Given the description of an element on the screen output the (x, y) to click on. 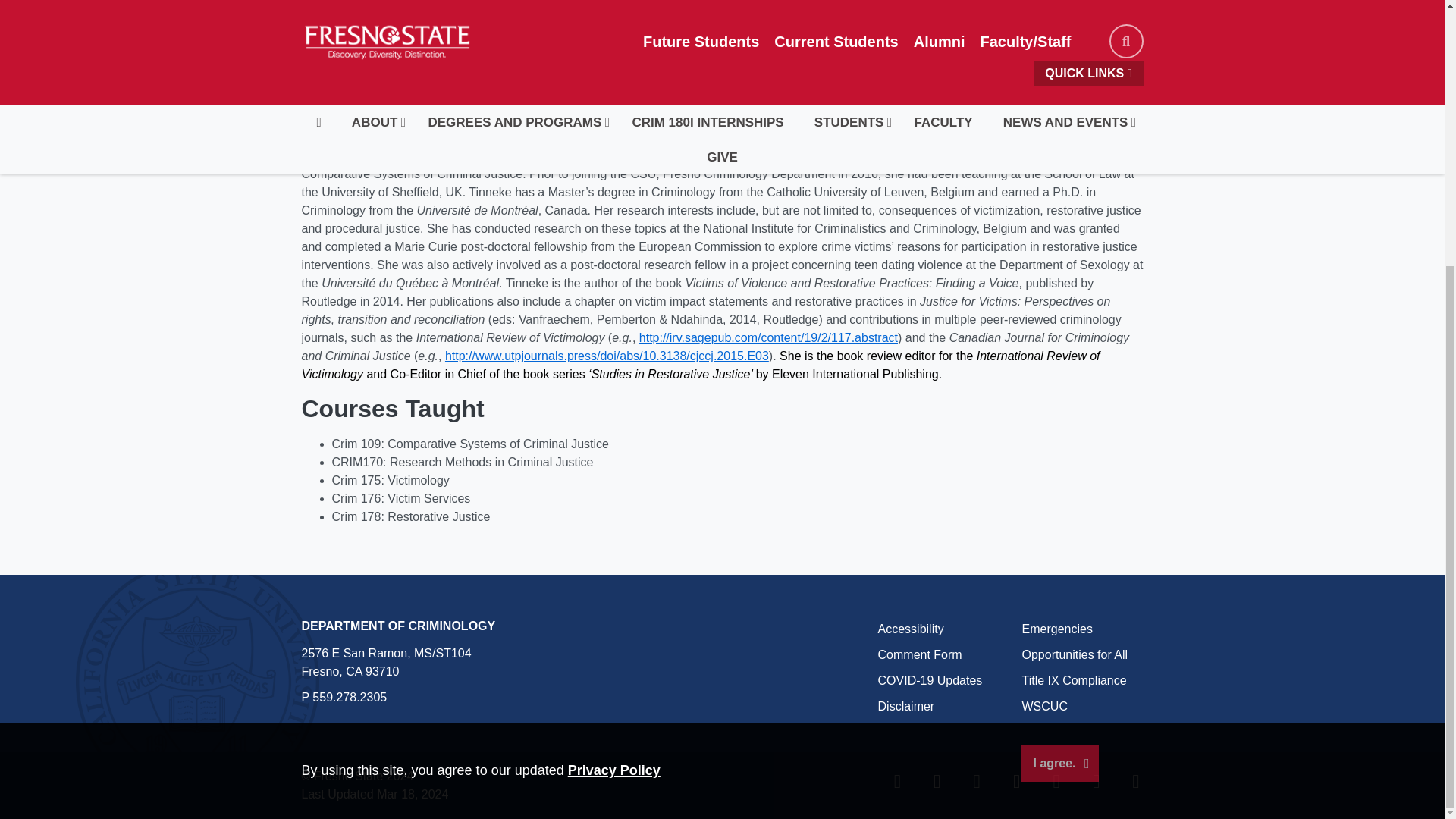
I agree. (1059, 377)
Department of Criminology link in the footer section (398, 625)
Privacy Policy (614, 384)
